Given the description of an element on the screen output the (x, y) to click on. 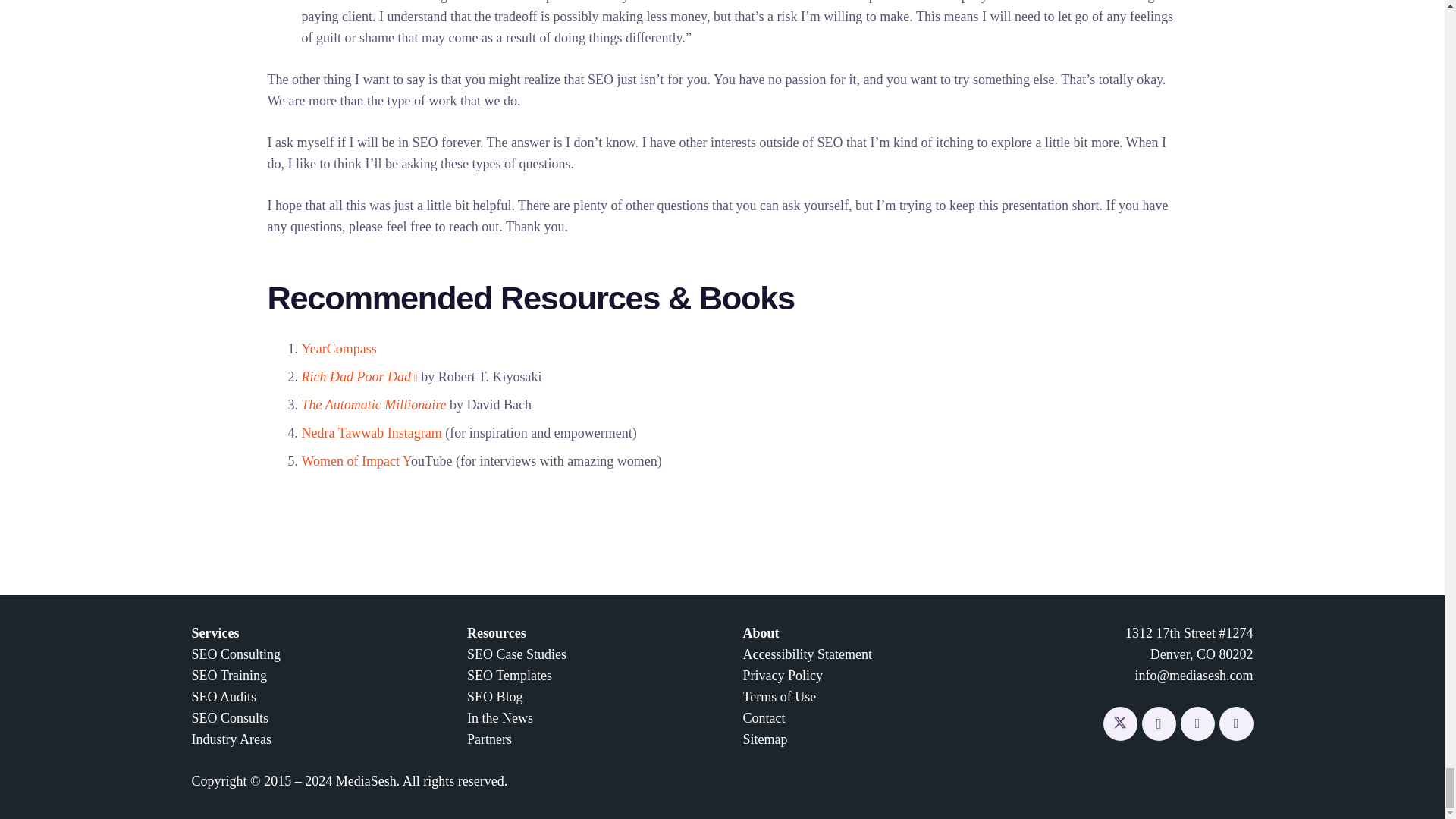
SEO Consulting (235, 654)
Instagram (1158, 723)
Twitter (1119, 723)
Rich Dad Poor Dad (359, 376)
Services (214, 632)
SEO Consults (228, 717)
YearCompass (339, 348)
Nedra Tawwab Instagram (371, 432)
SEO Audits (223, 696)
Women of Impact Y (356, 460)
SEO Training (228, 675)
LinkedIn (1196, 723)
YouTube (1236, 723)
Industry Areas (230, 739)
The Automatic Millionaire (373, 404)
